Given the description of an element on the screen output the (x, y) to click on. 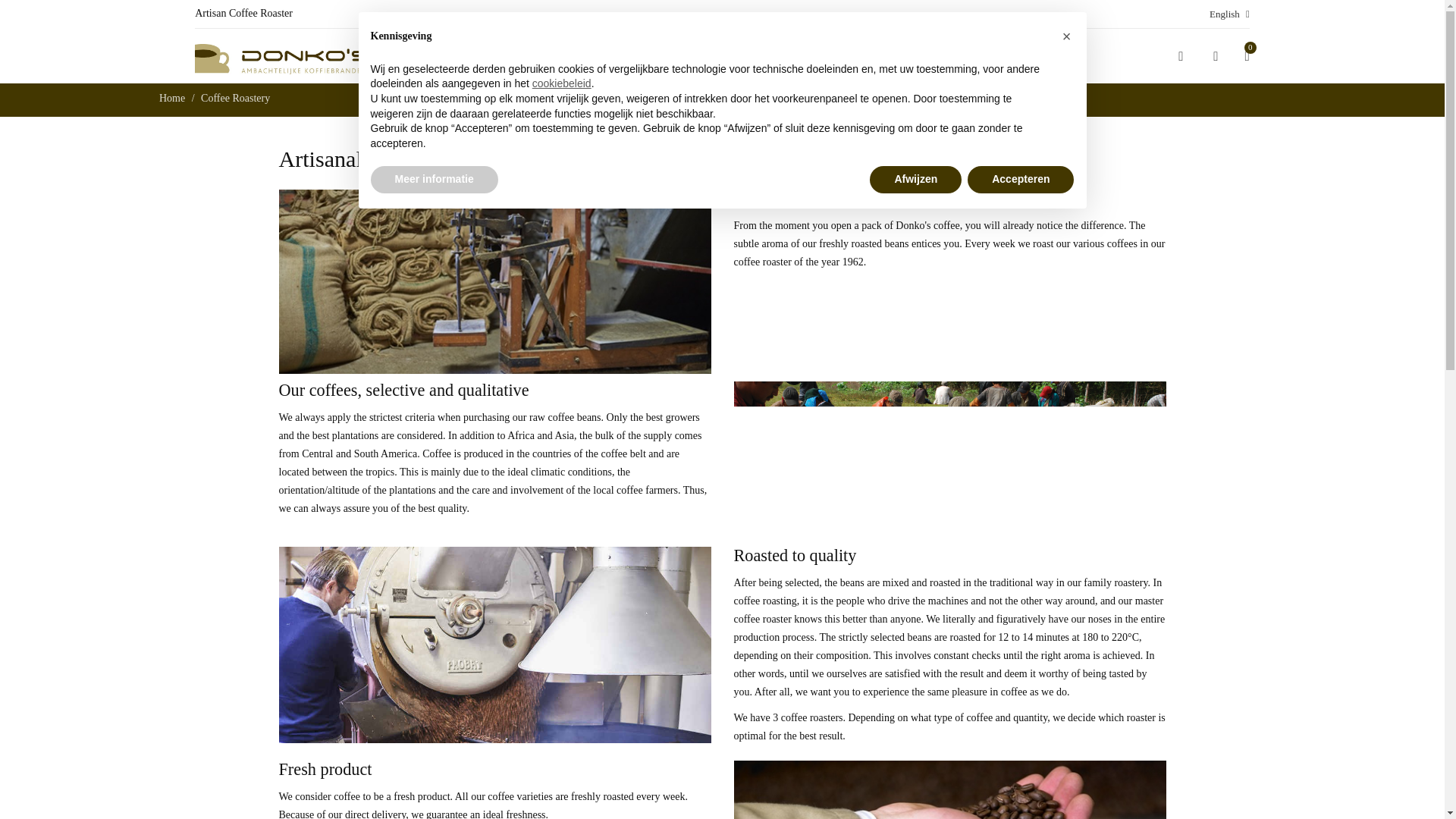
Donko's Koffie (283, 57)
English (1229, 13)
Return to Home (172, 98)
SHOP (555, 56)
